Given the description of an element on the screen output the (x, y) to click on. 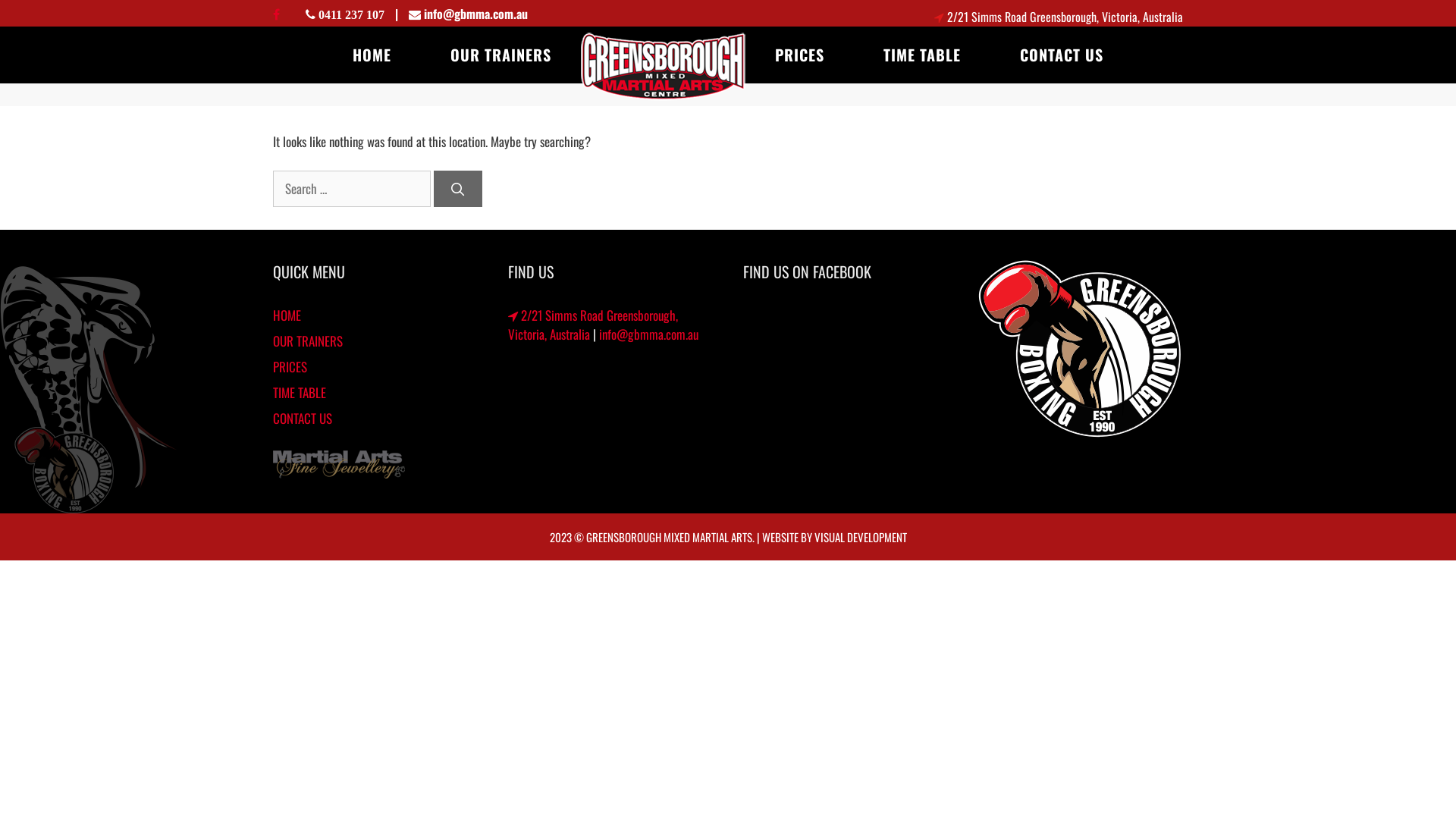
HOME Element type: text (371, 54)
PRICES Element type: text (290, 365)
OUR TRAINERS Element type: text (500, 54)
info@gbmma.com.au Element type: text (473, 13)
0411 237 107 Element type: text (349, 14)
PRICES Element type: text (799, 54)
OUR TRAINERS Element type: text (307, 339)
Your site name Element type: hover (662, 65)
TIME TABLE Element type: text (921, 54)
2/21 Simms Road Greensborough, Victoria, Australia Element type: text (1065, 16)
WEBSITE BY VISUAL DEVELOPMENT Element type: text (833, 535)
| Element type: text (406, 13)
TIME TABLE Element type: text (299, 391)
2/21 Simms Road Greensborough, Victoria, Australia Element type: text (592, 323)
HOME Element type: text (287, 313)
CONTACT US Element type: text (1061, 54)
Search for: Element type: hover (351, 188)
CONTACT US Element type: text (302, 416)
info@gbmma.com.au Element type: text (648, 333)
